Given the description of an element on the screen output the (x, y) to click on. 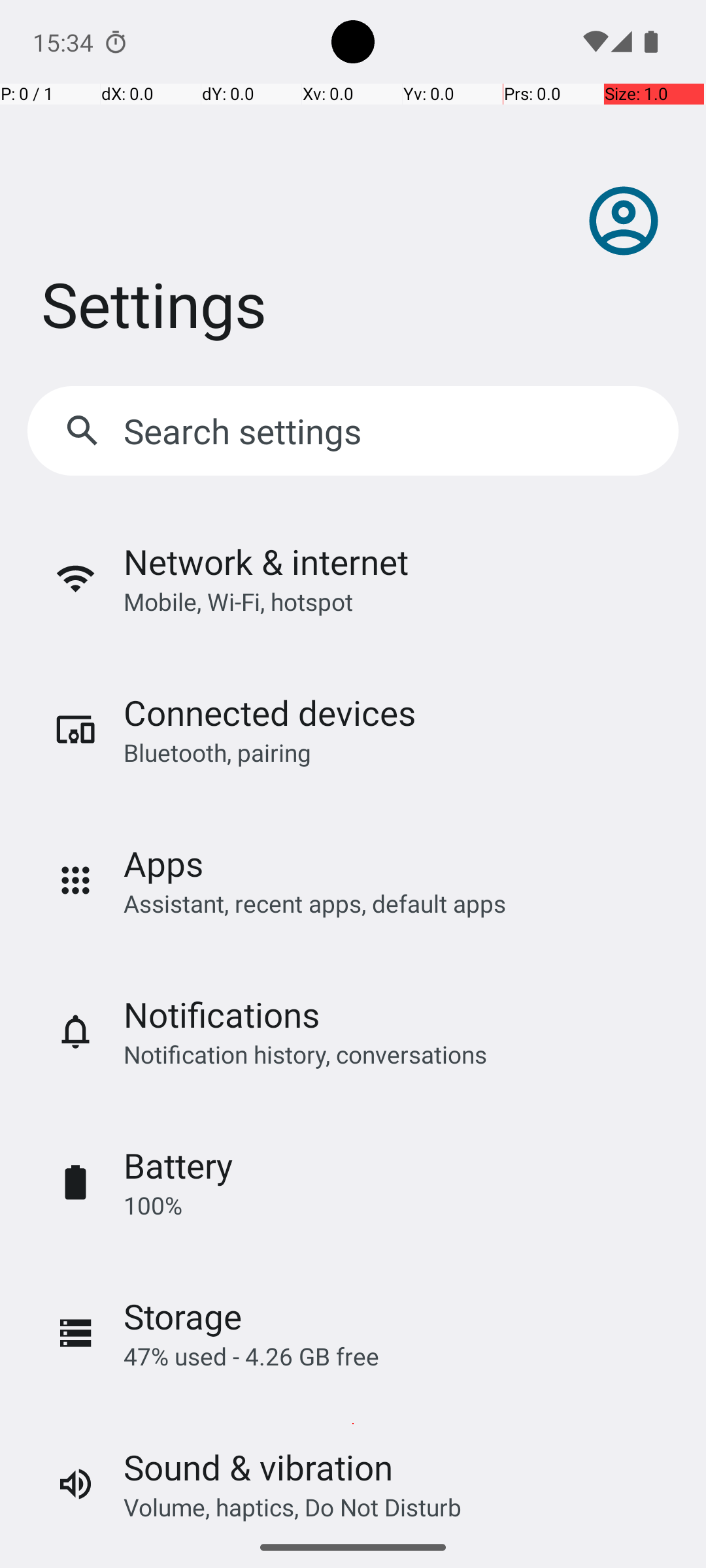
47% used - 4.26 GB free Element type: android.widget.TextView (251, 1355)
